Given the description of an element on the screen output the (x, y) to click on. 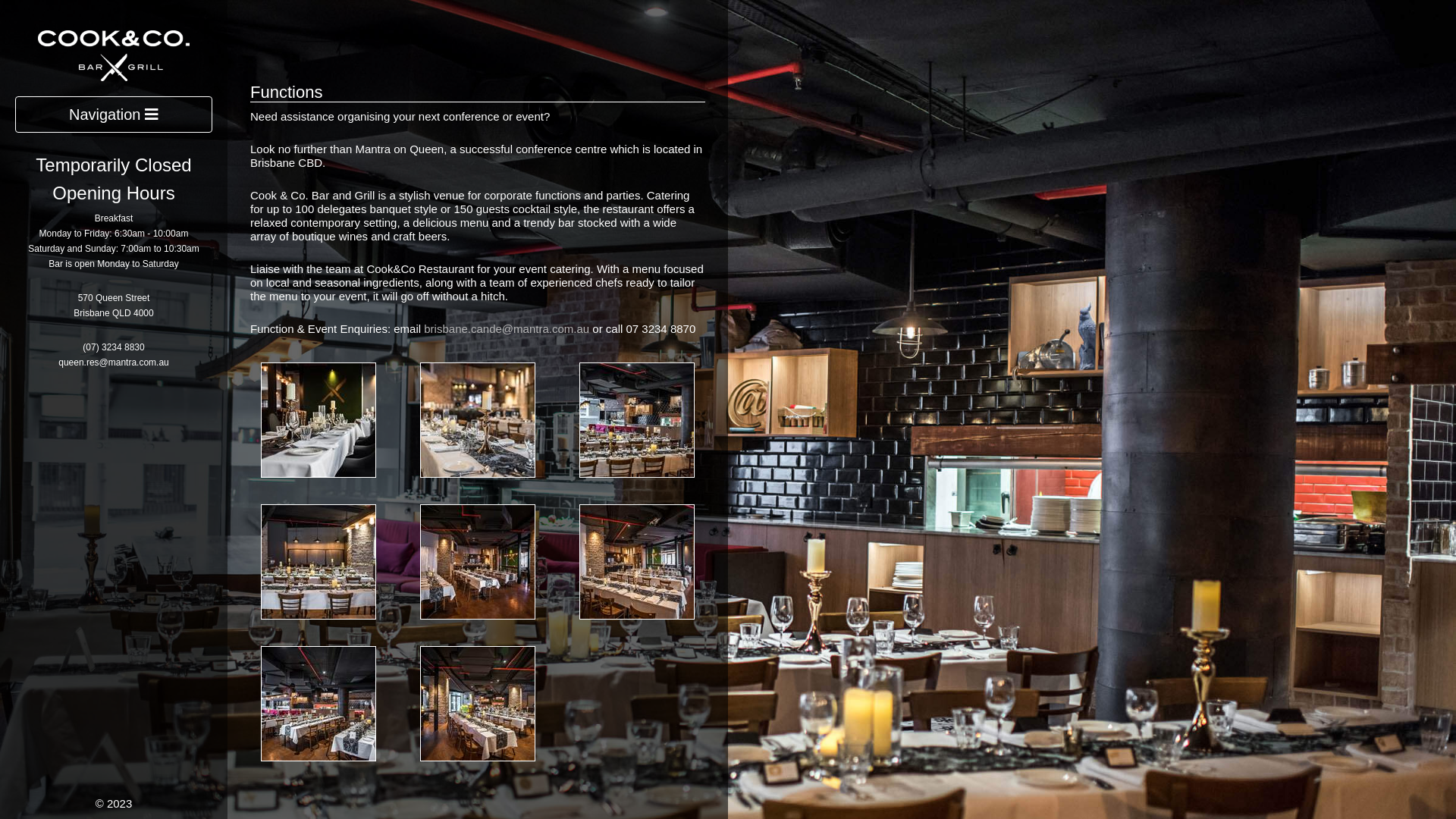
Navigation Element type: text (113, 114)
brisbane.cande@mantra.com.au Element type: text (506, 328)
(07) 3234 8830 Element type: text (113, 347)
Cook & Co Element type: hover (113, 53)
queen.res@mantra.com.au Element type: text (113, 362)
